Given the description of an element on the screen output the (x, y) to click on. 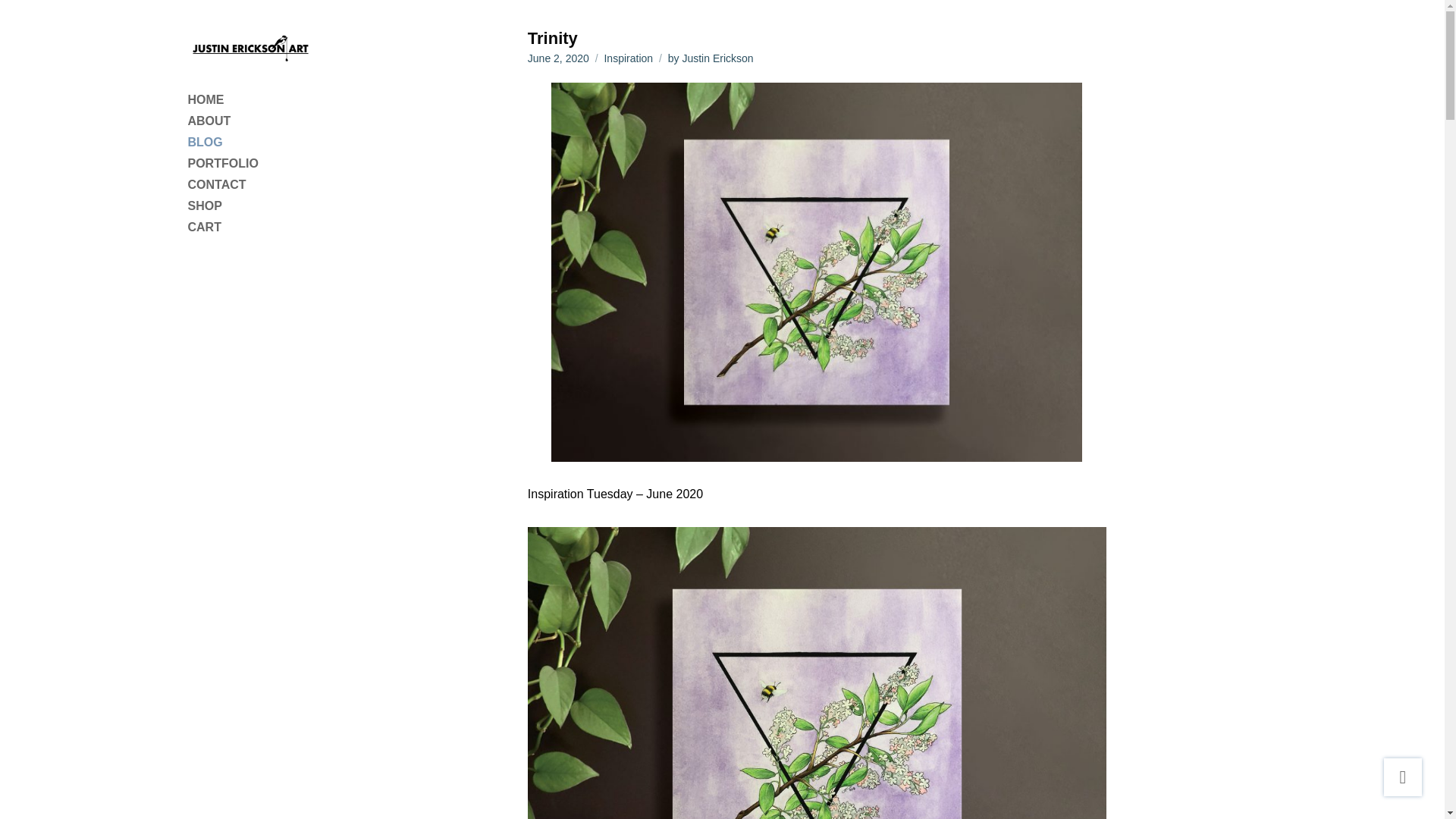
CONTACT (250, 184)
Inspiration (628, 58)
PORTFOLIO (250, 163)
Justin Erickson (716, 58)
CART (250, 227)
HOME (250, 99)
SHOP (250, 206)
BLOG (250, 142)
ABOUT (250, 120)
